Given the description of an element on the screen output the (x, y) to click on. 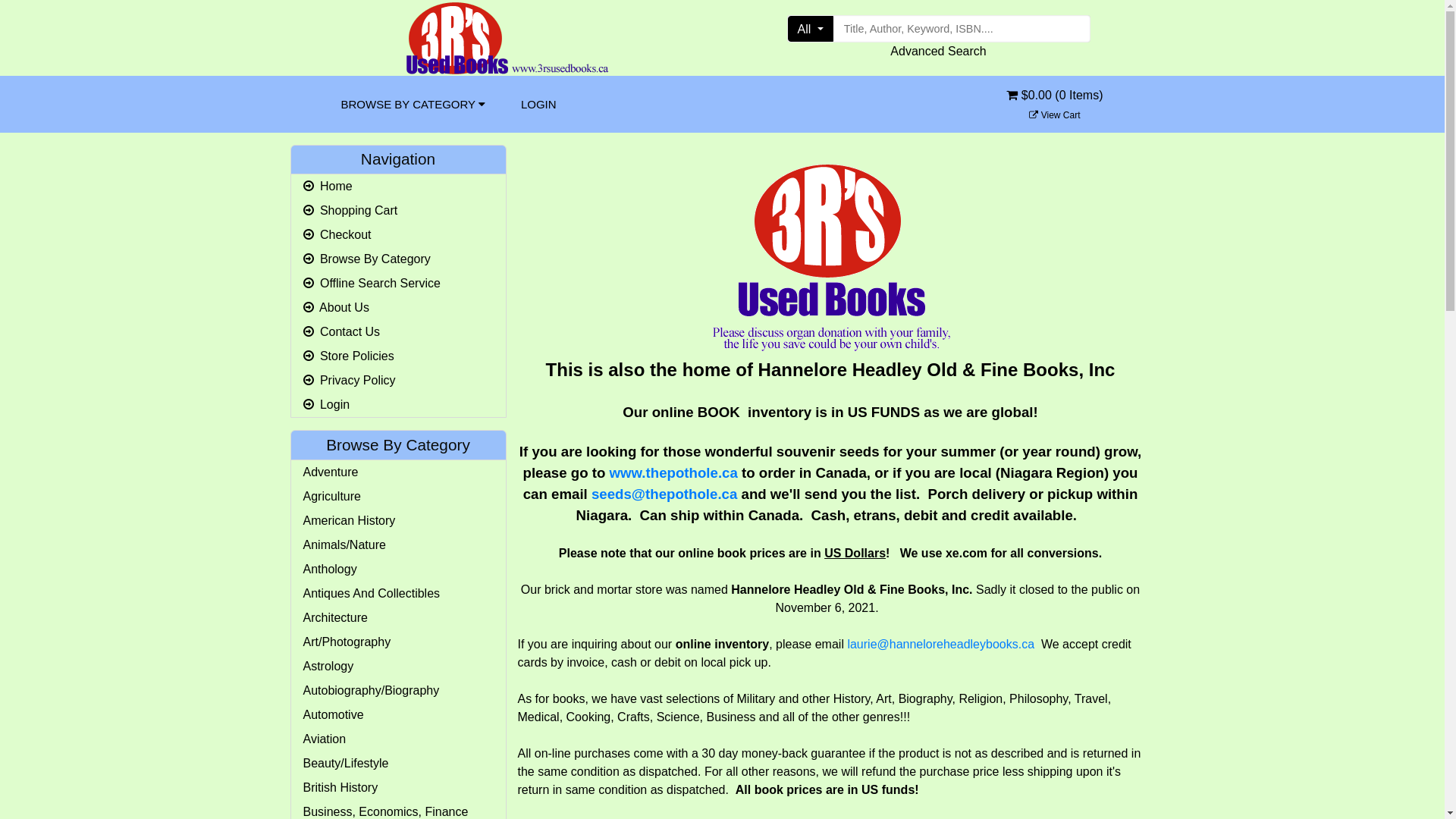
British History Element type: text (398, 787)
Adventure Element type: text (398, 472)
Automotive Element type: text (398, 714)
 View Cart Element type: text (1054, 114)
 Browse By Category Element type: text (398, 259)
 Store Policies Element type: text (398, 356)
Beauty/Lifestyle Element type: text (398, 763)
seeds@thepothole.ca Element type: text (664, 494)
Aviation Element type: text (398, 739)
 Home Element type: text (398, 186)
 Shopping Cart Element type: text (398, 210)
Architecture Element type: text (398, 617)
American History Element type: text (398, 520)
LOGIN Element type: text (538, 103)
 Checkout Element type: text (398, 234)
 Contact Us Element type: text (398, 332)
Anthology Element type: text (398, 569)
Agriculture Element type: text (398, 496)
 Login Element type: text (398, 404)
 Offline Search Service Element type: text (398, 283)
Advanced Search Element type: text (937, 50)
Autobiography/Biography Element type: text (398, 690)
Astrology Element type: text (398, 666)
Art/Photography Element type: text (398, 642)
$0.00 (0 Items) Element type: text (1054, 103)
 About Us Element type: text (398, 307)
BROWSE BY CATEGORY  Element type: text (413, 103)
Animals/Nature Element type: text (398, 545)
 Privacy Policy Element type: text (398, 380)
laurie@hanneloreheadleybooks.ca Element type: text (940, 643)
www.thepothole.ca Element type: text (673, 472)
All  Element type: text (809, 28)
Antiques And Collectibles Element type: text (398, 593)
